Given the description of an element on the screen output the (x, y) to click on. 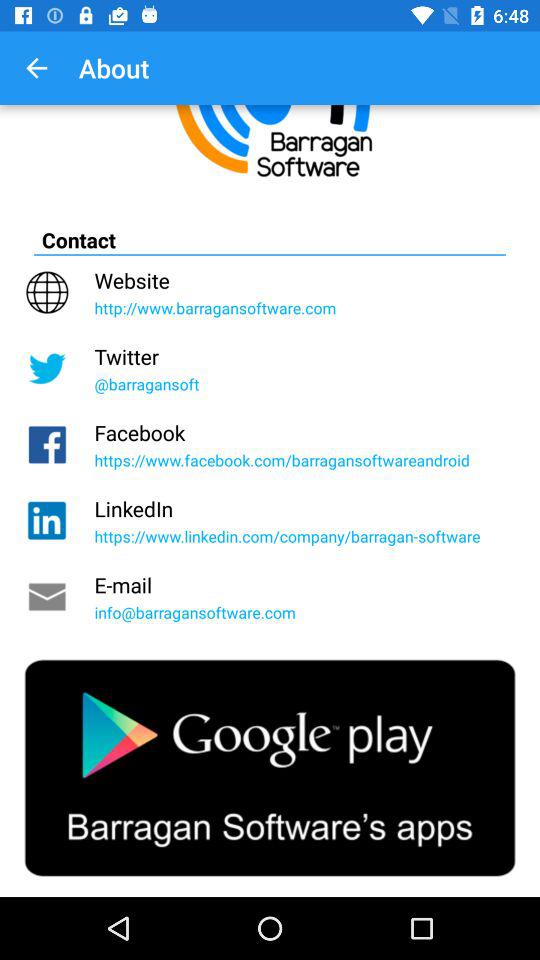
select icon to the left of about icon (36, 68)
